Given the description of an element on the screen output the (x, y) to click on. 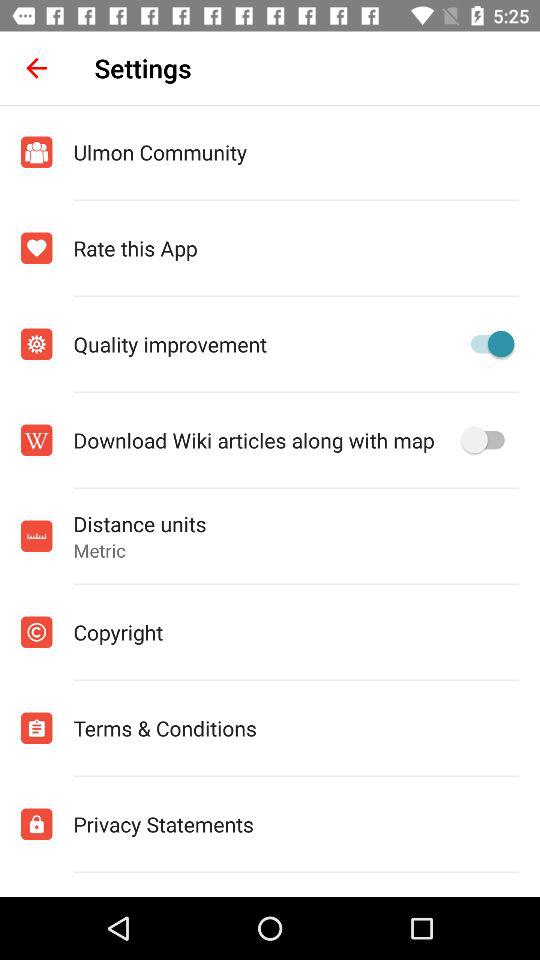
download toggle switch that turns on and off access to wiki articles associated with map (487, 439)
